Given the description of an element on the screen output the (x, y) to click on. 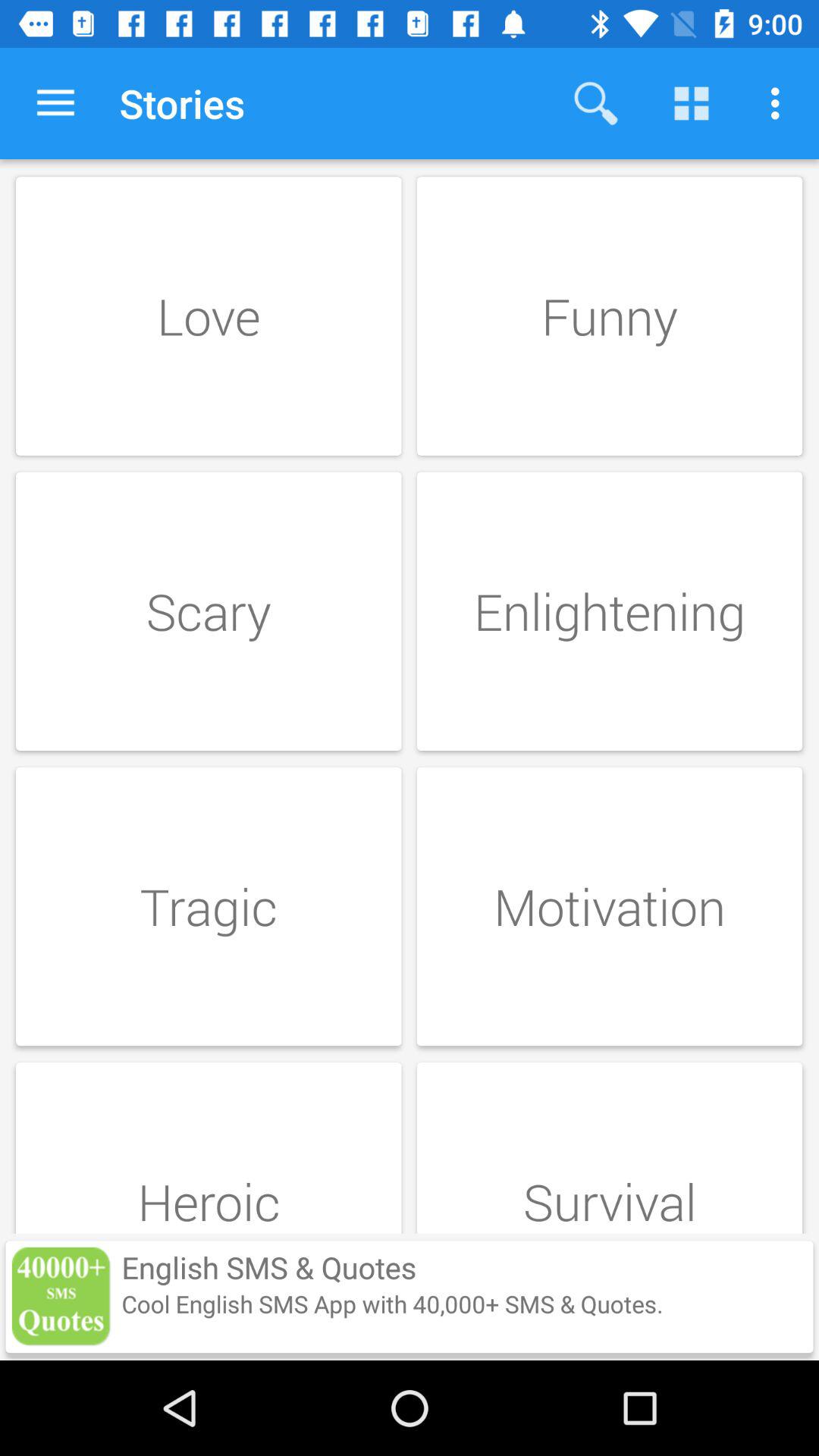
open the icon above the love icon (55, 103)
